Given the description of an element on the screen output the (x, y) to click on. 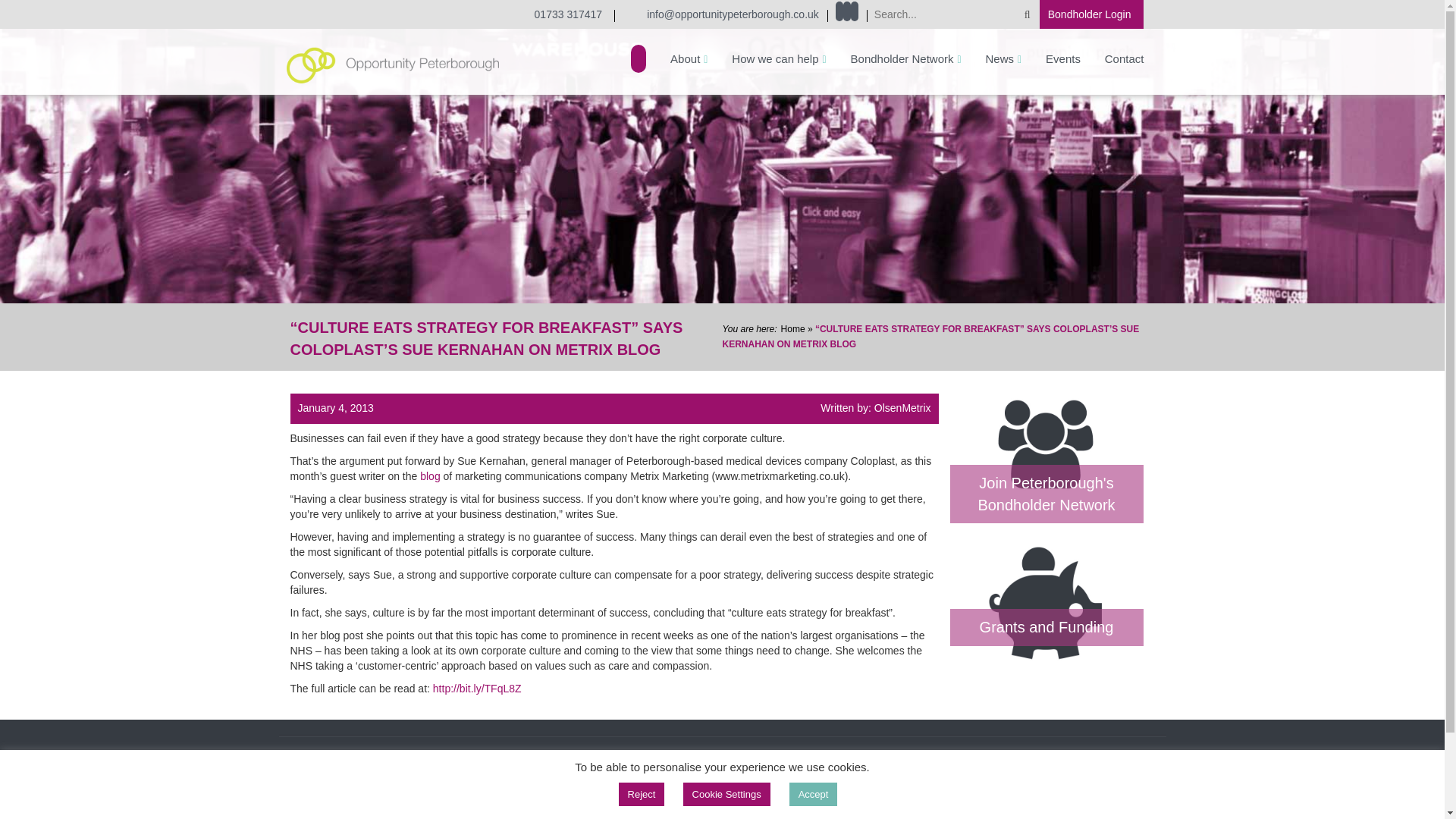
Opportunity Peterborough (392, 64)
